Given the description of an element on the screen output the (x, y) to click on. 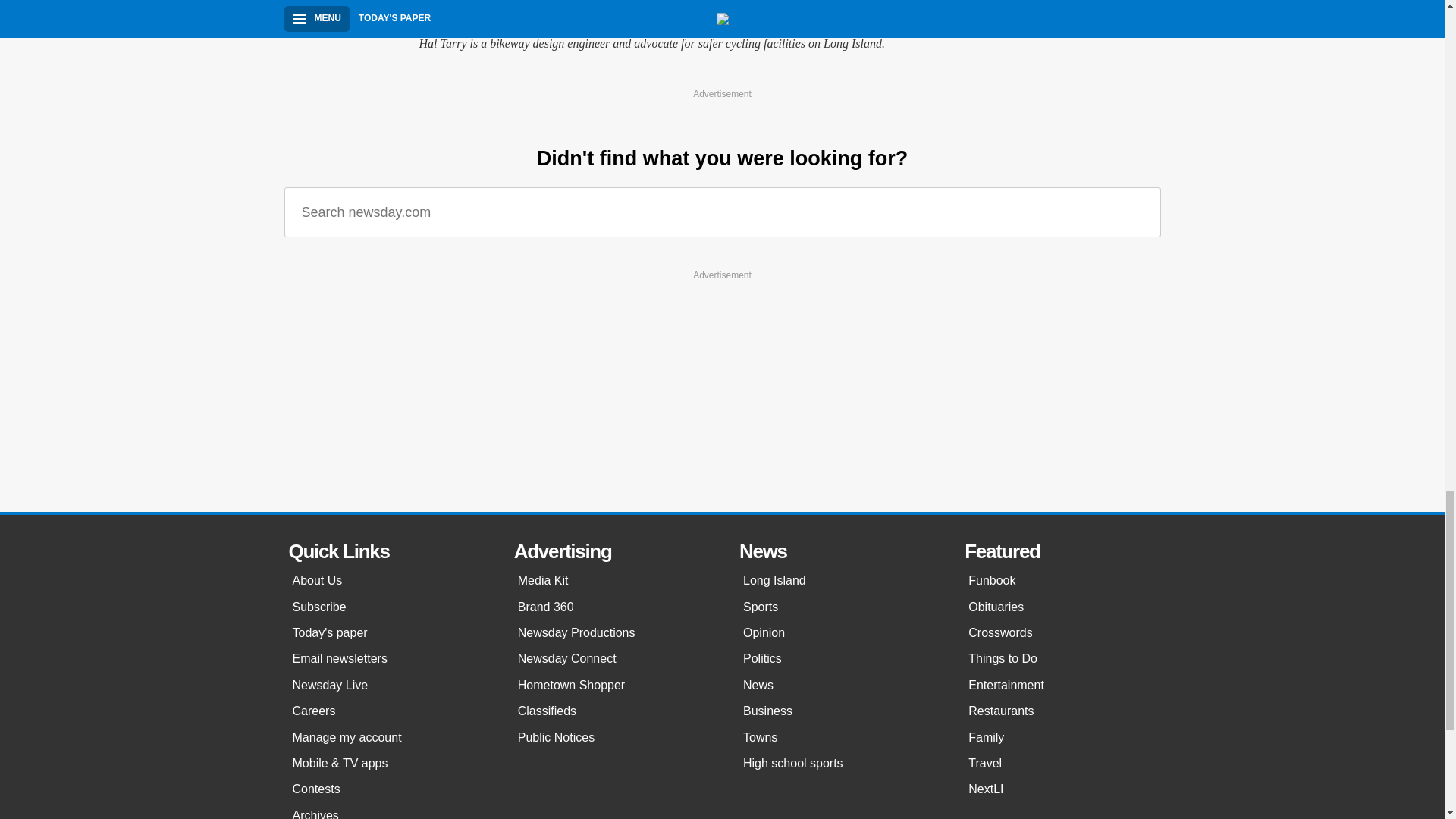
Search (1137, 212)
Subscribe (387, 606)
Today's paper (387, 632)
About Us (387, 580)
Email newsletters (387, 658)
Manage my account (387, 737)
Careers (387, 710)
Newsday Live (387, 685)
Archives (387, 811)
Contests (387, 789)
